Given the description of an element on the screen output the (x, y) to click on. 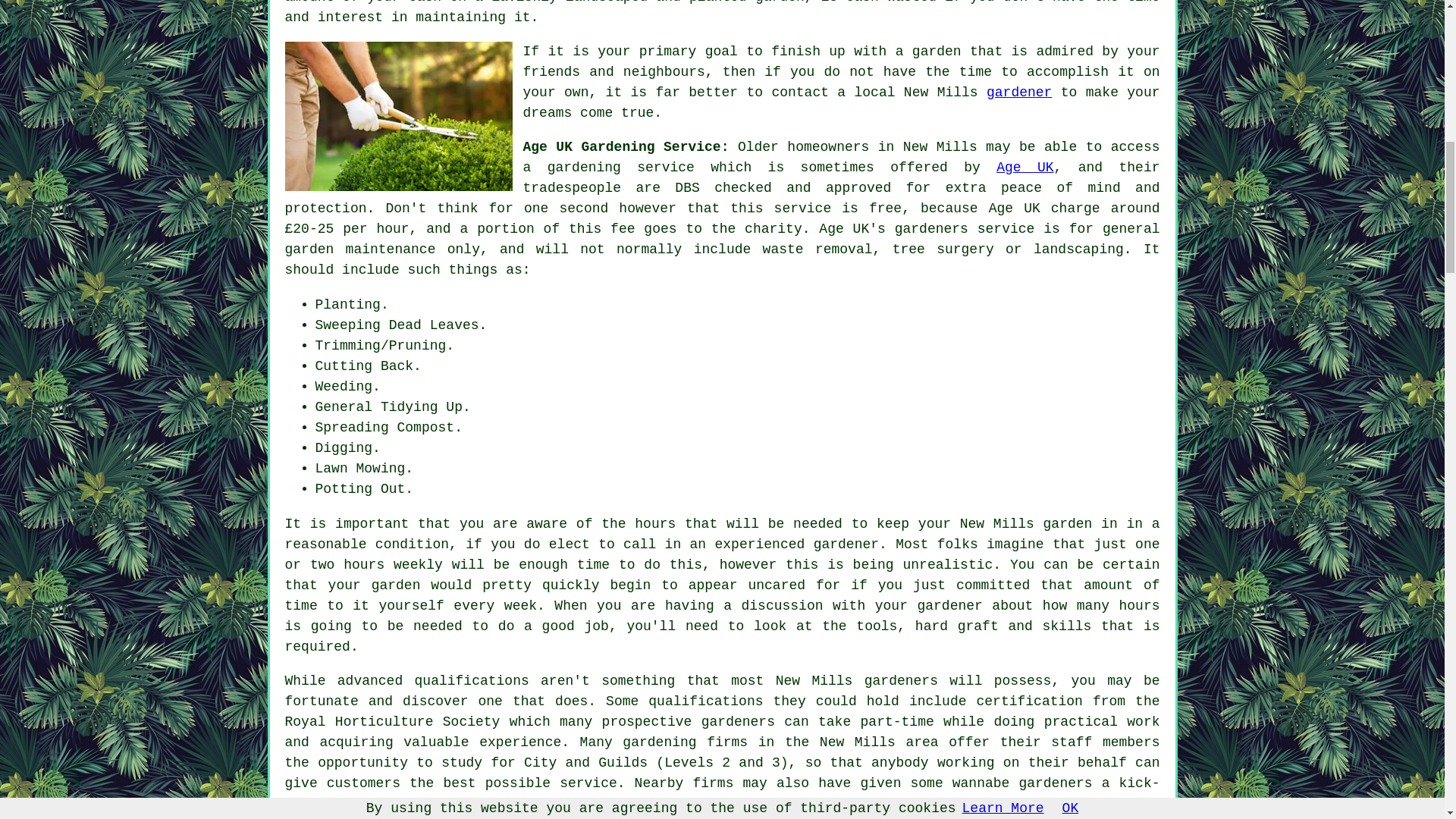
gardener (1019, 92)
gardeners (900, 680)
Gardeners New Mills Derbyshire (398, 115)
